Given the description of an element on the screen output the (x, y) to click on. 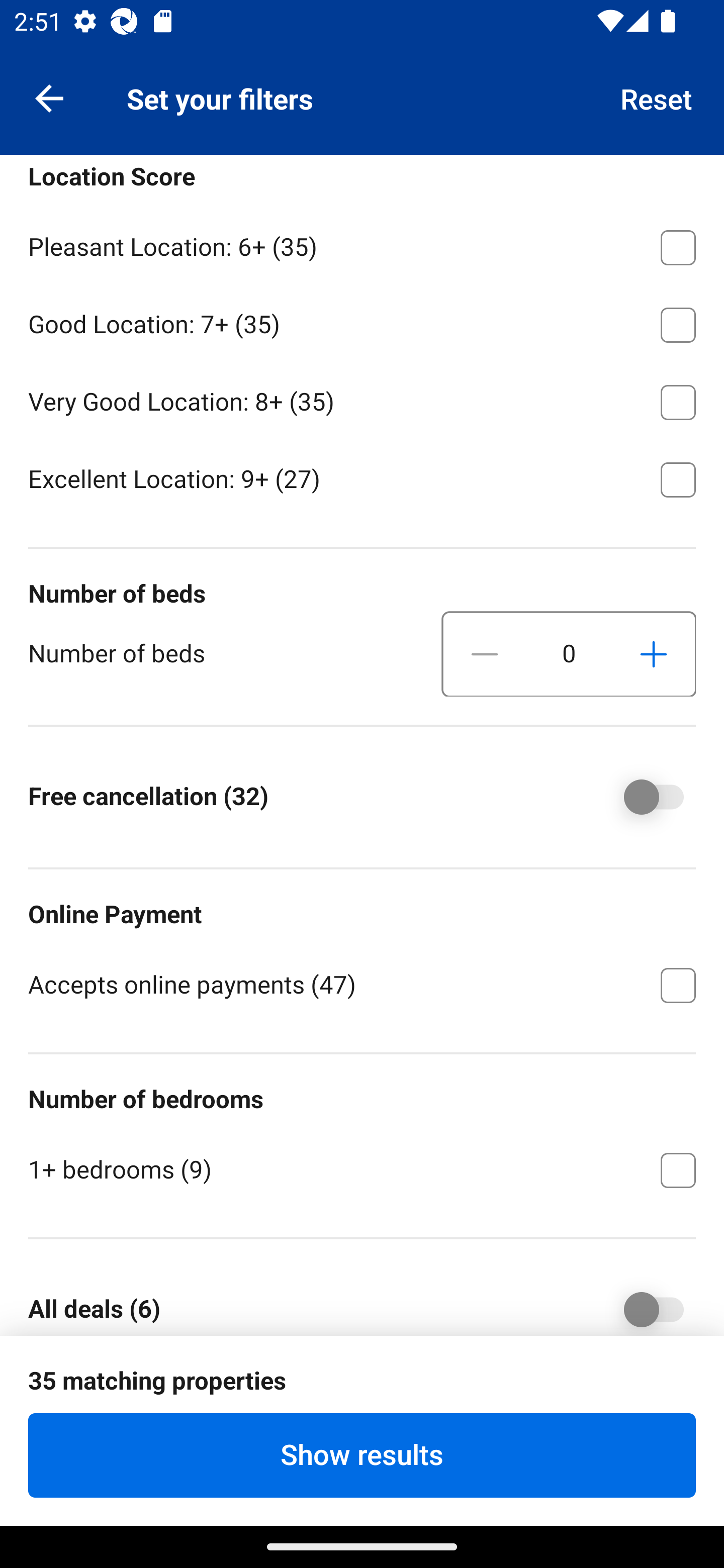
Navigate up (49, 97)
Reset (656, 97)
Pleasant Location: 6+ ⁦(35) (361, 243)
Good Location: 7+ ⁦(35) (361, 321)
Very Good Location: 8+ ⁦(35) (361, 398)
Excellent Location: 9+ ⁦(27) (361, 478)
Decrease (484, 653)
Increase (653, 653)
Free cancellation ⁦(32) (639, 796)
Accepts online payments ⁦(47) (361, 983)
1+ bedrooms ⁦(9) (361, 1168)
All deals ⁦(6) (639, 1300)
Show results (361, 1454)
